Given the description of an element on the screen output the (x, y) to click on. 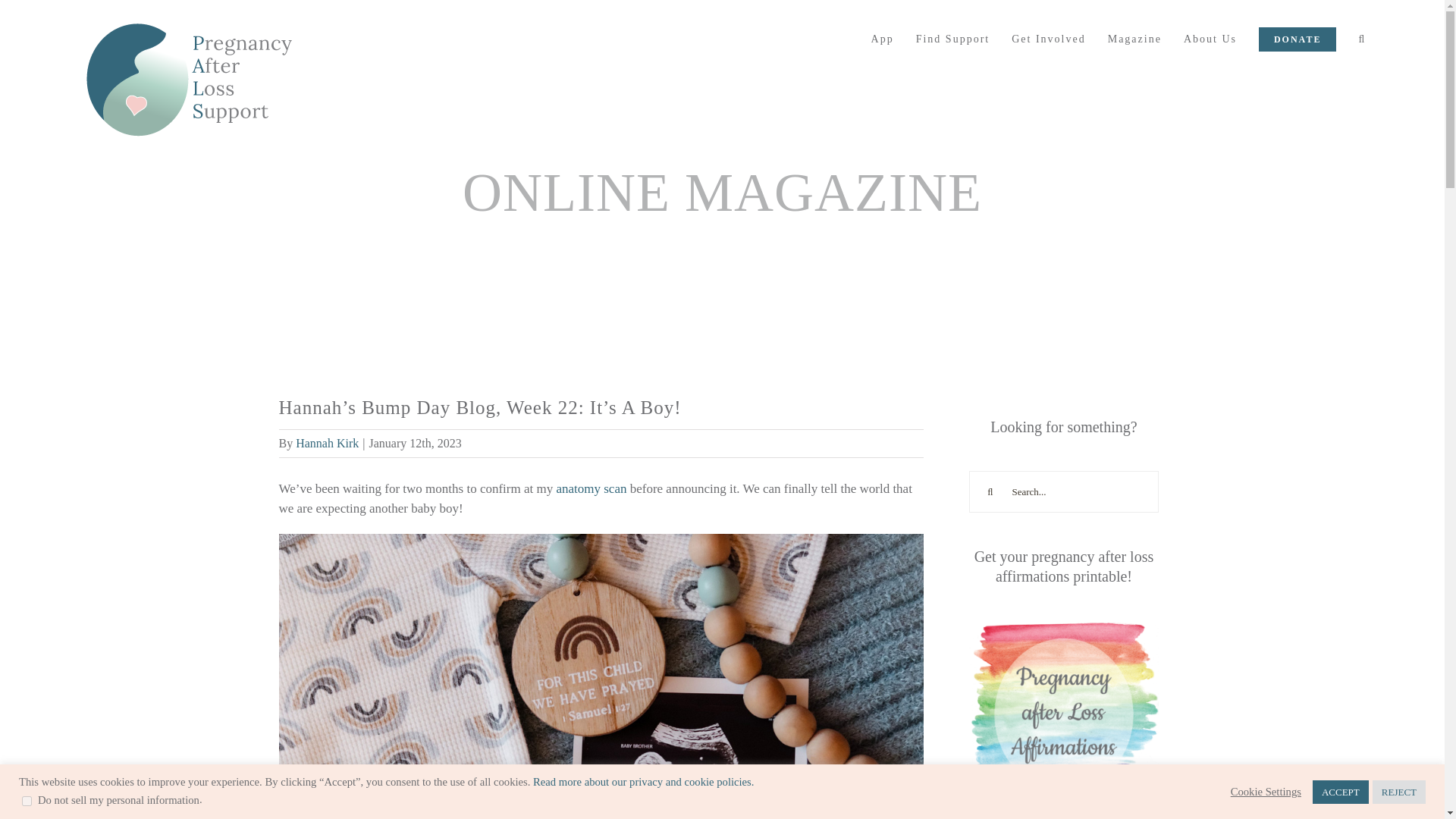
Find Support (952, 39)
Get Involved (1047, 39)
on (26, 800)
Posts by Hannah Kirk (326, 442)
